Given the description of an element on the screen output the (x, y) to click on. 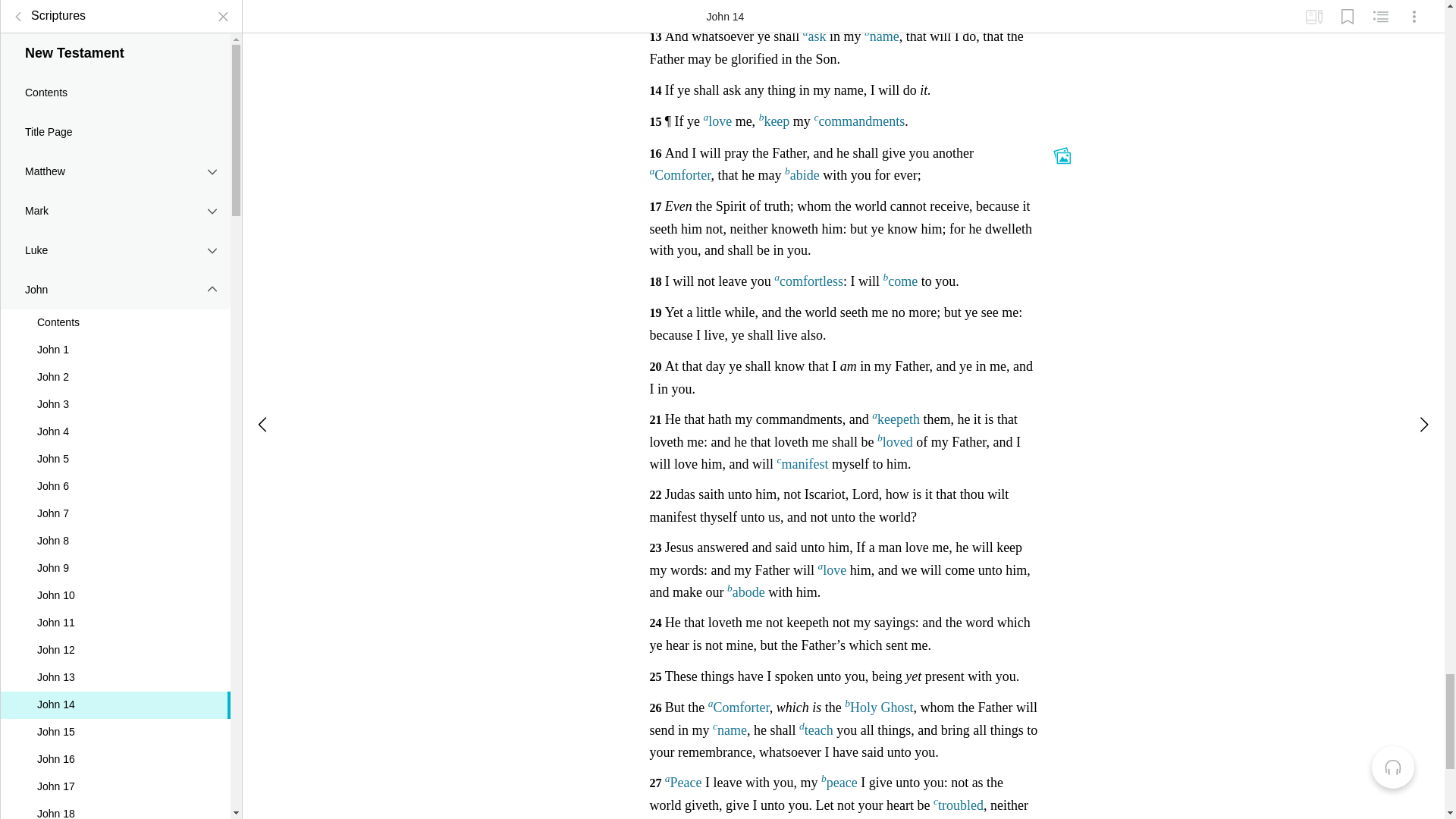
Colossians (115, 374)
Romans (115, 138)
John 21 (115, 65)
2 Thessalonians (115, 454)
1 Thessalonians (115, 414)
Ephesians (115, 296)
John 20 (115, 38)
1 Corinthians (115, 178)
2 Corinthians (115, 217)
Philippians (115, 335)
Galatians (115, 256)
John 19 (115, 12)
Acts (115, 98)
